Given the description of an element on the screen output the (x, y) to click on. 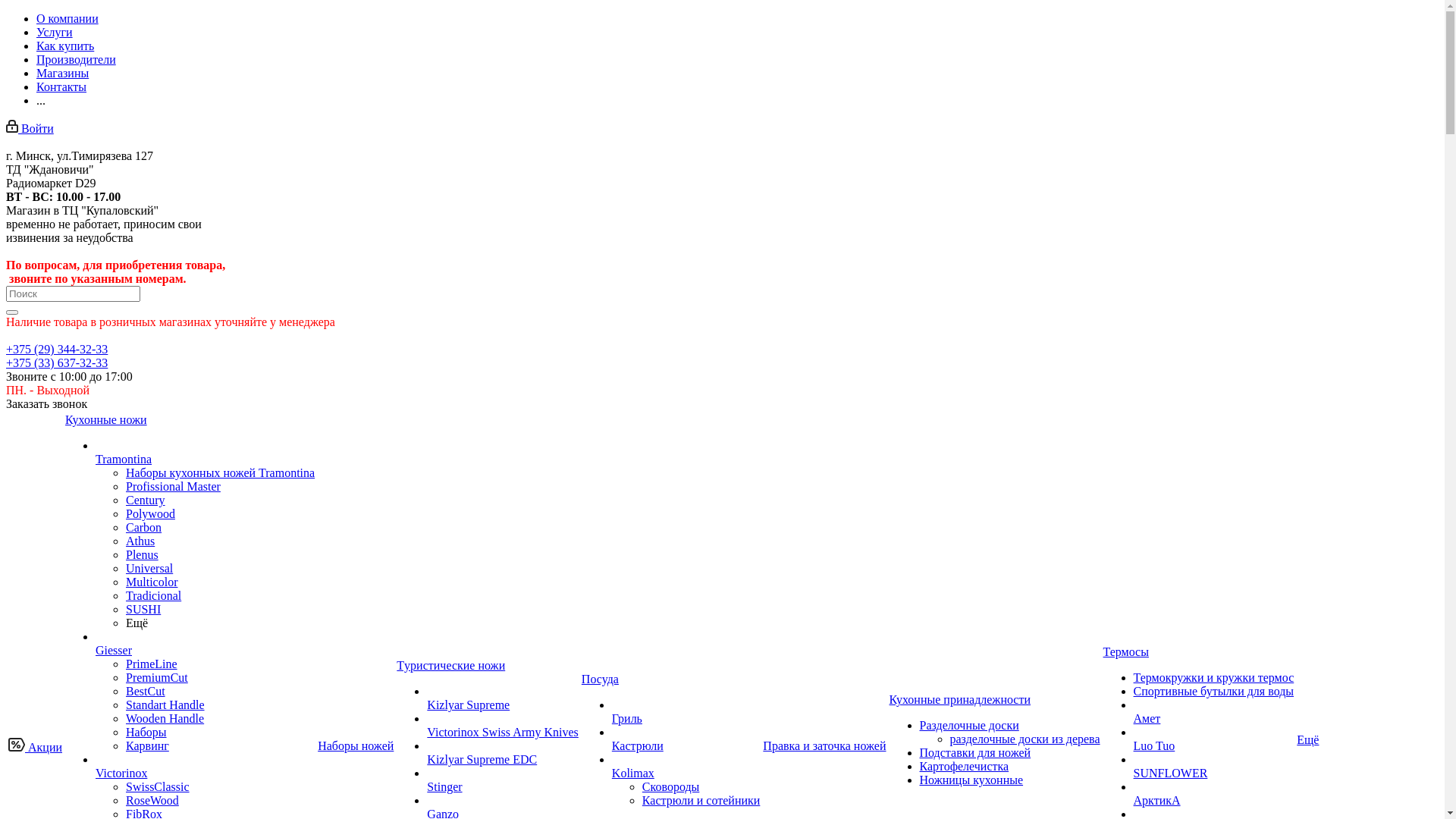
+375 (33) 637-32-33 Element type: text (56, 362)
Victorinox  Swiss Army Knives Element type: hover (426, 721)
Kizlyar Supreme EDC Element type: text (481, 759)
Century Element type: text (145, 499)
Tramontina Element type: hover (95, 448)
Polywood Element type: text (150, 513)
SUNFLOWER Element type: hover (1133, 762)
SUNFLOWER Element type: text (1170, 772)
Luo Tuo Element type: hover (1133, 735)
Tramontina Element type: text (123, 458)
Giesser Element type: hover (95, 640)
Kizlyar Supreme EDC Element type: hover (426, 749)
Giesser Element type: text (113, 649)
SwissClassic Element type: text (157, 786)
BestCut Element type: text (145, 690)
SUSHI Element type: text (142, 608)
PrimeLine Element type: text (151, 663)
Wooden Handle Element type: text (164, 718)
Ganzo Element type: hover (426, 803)
Carbon Element type: text (143, 526)
Victorinox Element type: hover (95, 762)
BioStal Element type: hover (1133, 817)
Plenus Element type: text (141, 554)
Profissional Master Element type: text (172, 486)
Universal Element type: text (148, 567)
Standart Handle Element type: text (164, 704)
Multicolor Element type: text (151, 581)
Kolimax Element type: text (632, 772)
Stinger Element type: hover (426, 776)
Athus Element type: text (139, 540)
Luo Tuo Element type: text (1154, 745)
Kizlyar Supreme Element type: text (467, 704)
RoseWood Element type: text (151, 799)
PremiumCut Element type: text (156, 677)
Victorinox Swiss Army Knives Element type: text (501, 731)
Tradicional Element type: text (153, 595)
Kizlyar Supreme Element type: hover (426, 694)
Stinger Element type: text (443, 786)
Victorinox Element type: text (121, 772)
Kolimax Element type: hover (611, 762)
+375 (29) 344-32-33 Element type: text (56, 348)
